Given the description of an element on the screen output the (x, y) to click on. 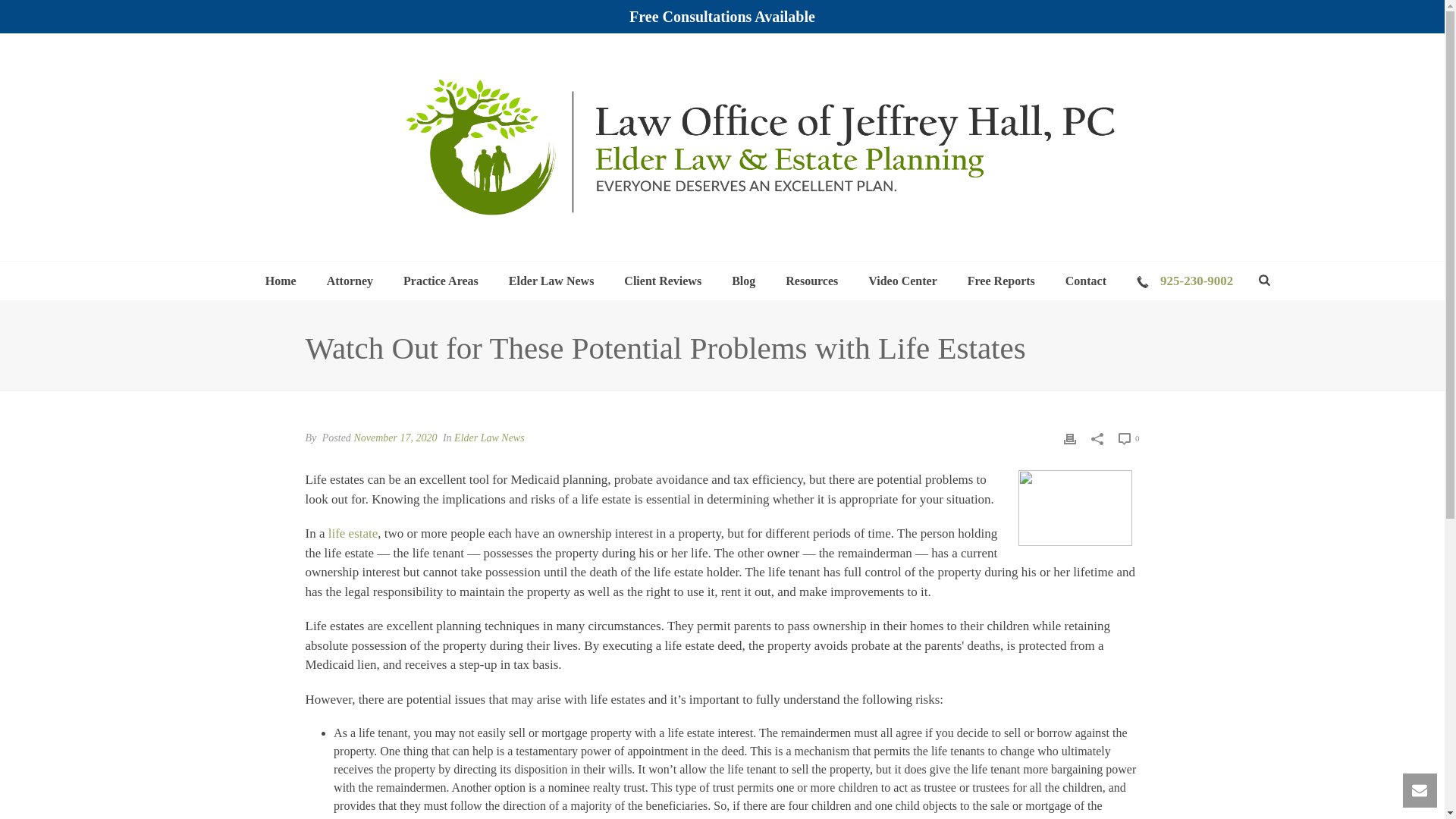
Home (280, 280)
Elder Law News (551, 280)
Blog (743, 280)
Practice Areas (440, 280)
925-230-9002 (1184, 280)
Client Reviews (662, 280)
Blog (743, 280)
Video Center (902, 280)
Attorney (349, 280)
Resources (811, 280)
Home (280, 280)
Free Reports (1000, 280)
Contact (1085, 280)
Contact (1085, 280)
